Given the description of an element on the screen output the (x, y) to click on. 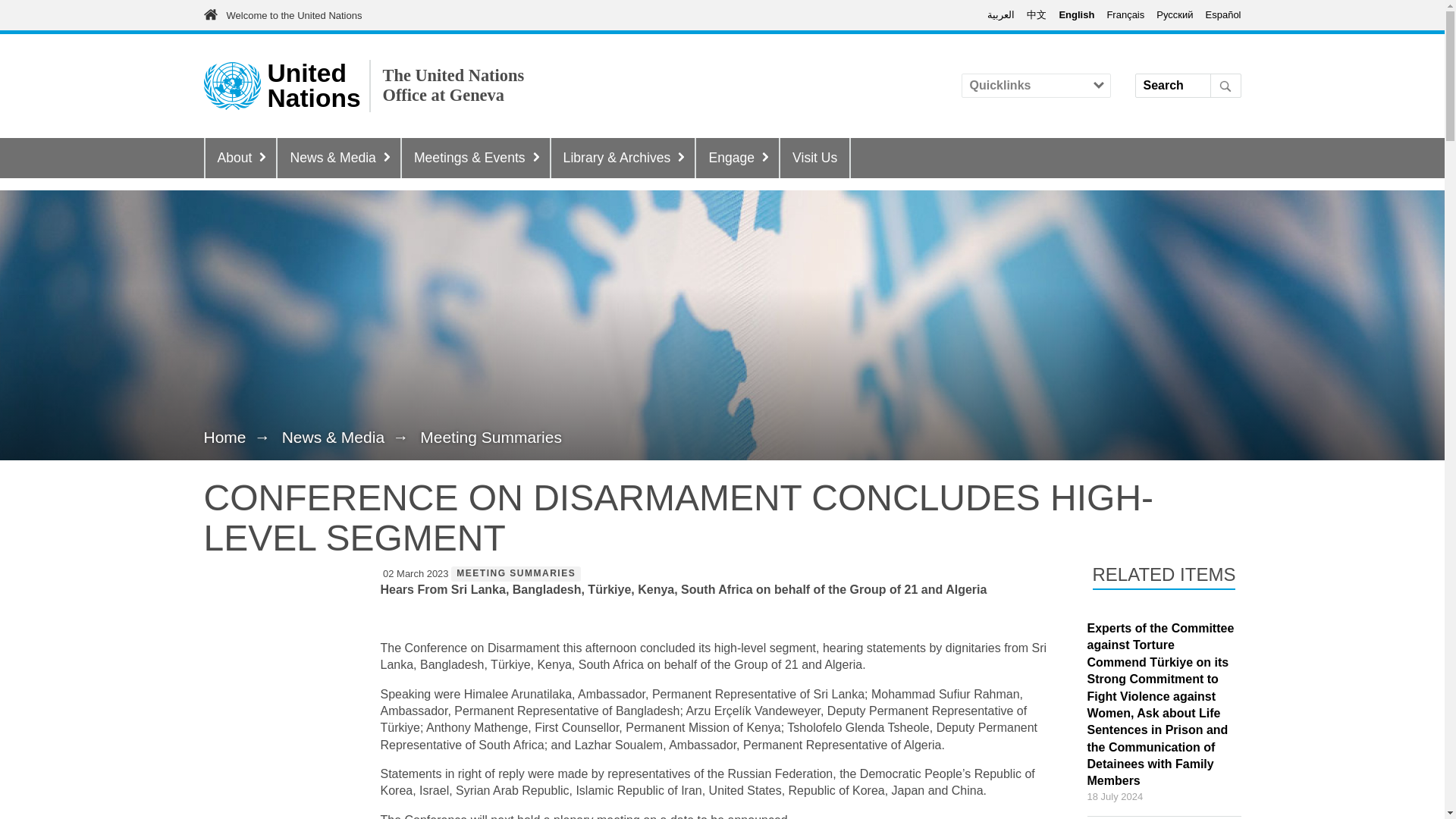
United Nations (312, 85)
United Nations Global Website (293, 15)
Welcome to the United Nations (293, 15)
The United Nations Office at Geneva (452, 86)
English (1076, 14)
About (240, 158)
The United Nations Office at Geneva (312, 85)
The United Nations Office at Geneva (231, 85)
Search (1187, 109)
The United Nations Office at Geneva (452, 86)
Search (1187, 109)
